Given the description of an element on the screen output the (x, y) to click on. 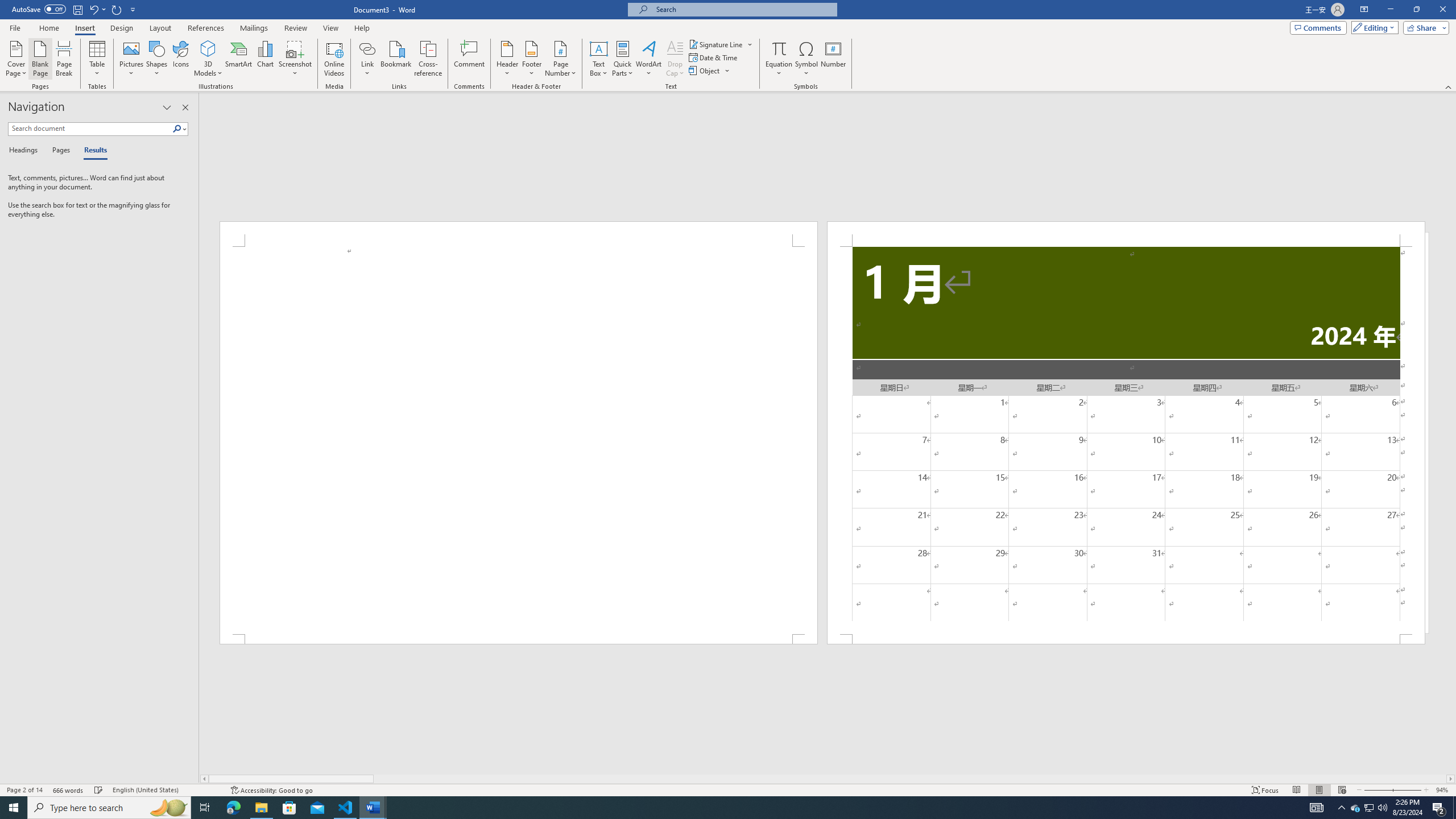
Drop Cap (674, 58)
Chart... (265, 58)
Cross-reference... (428, 58)
WordArt (648, 58)
Page Number (560, 58)
3D Models (208, 58)
Icons (180, 58)
Undo New Page (92, 9)
SmartArt... (238, 58)
